Given the description of an element on the screen output the (x, y) to click on. 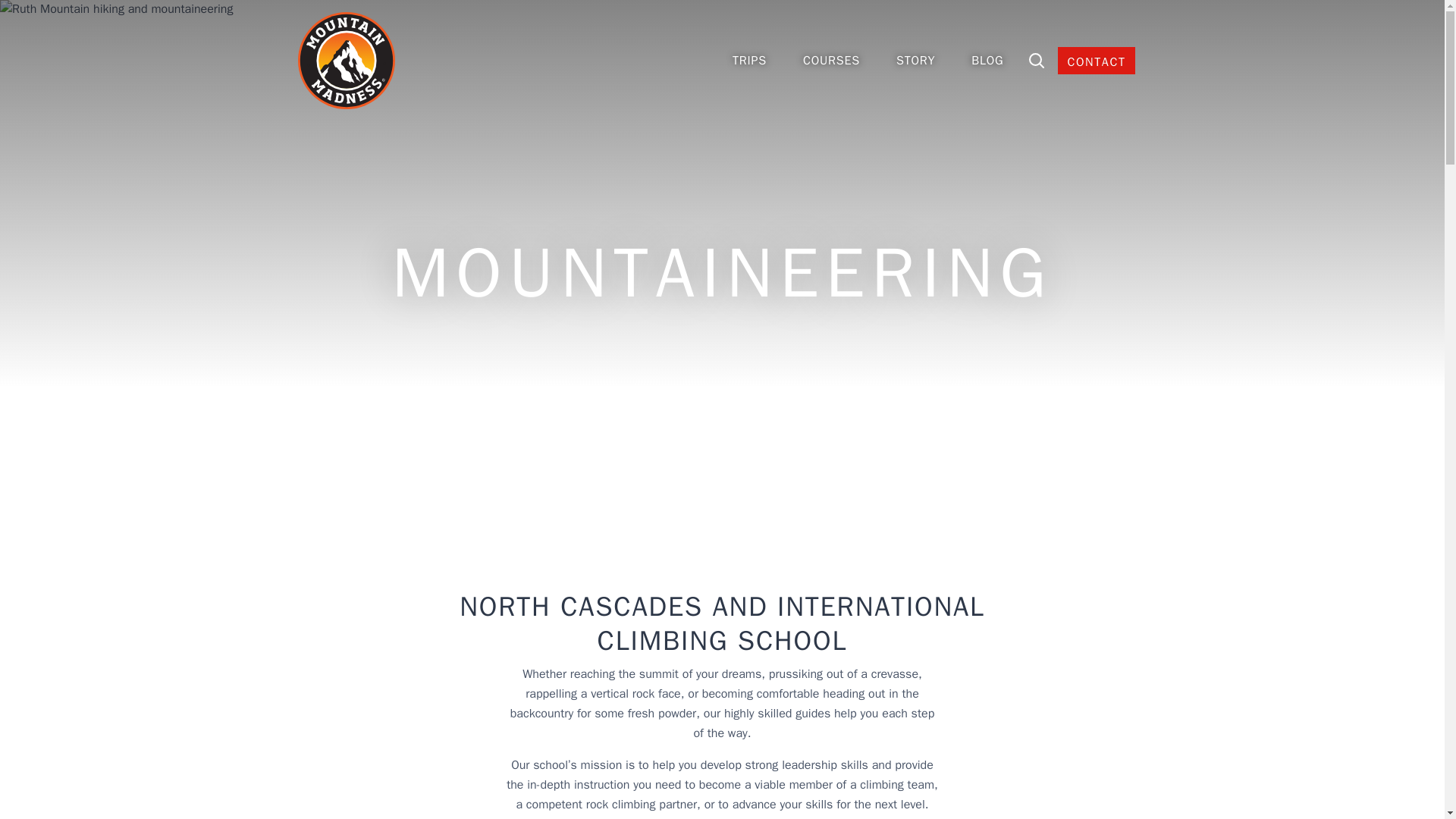
TRIPS (749, 60)
CONTACT (1096, 60)
STORY (915, 60)
BLOG (986, 60)
COURSES (831, 60)
